Given the description of an element on the screen output the (x, y) to click on. 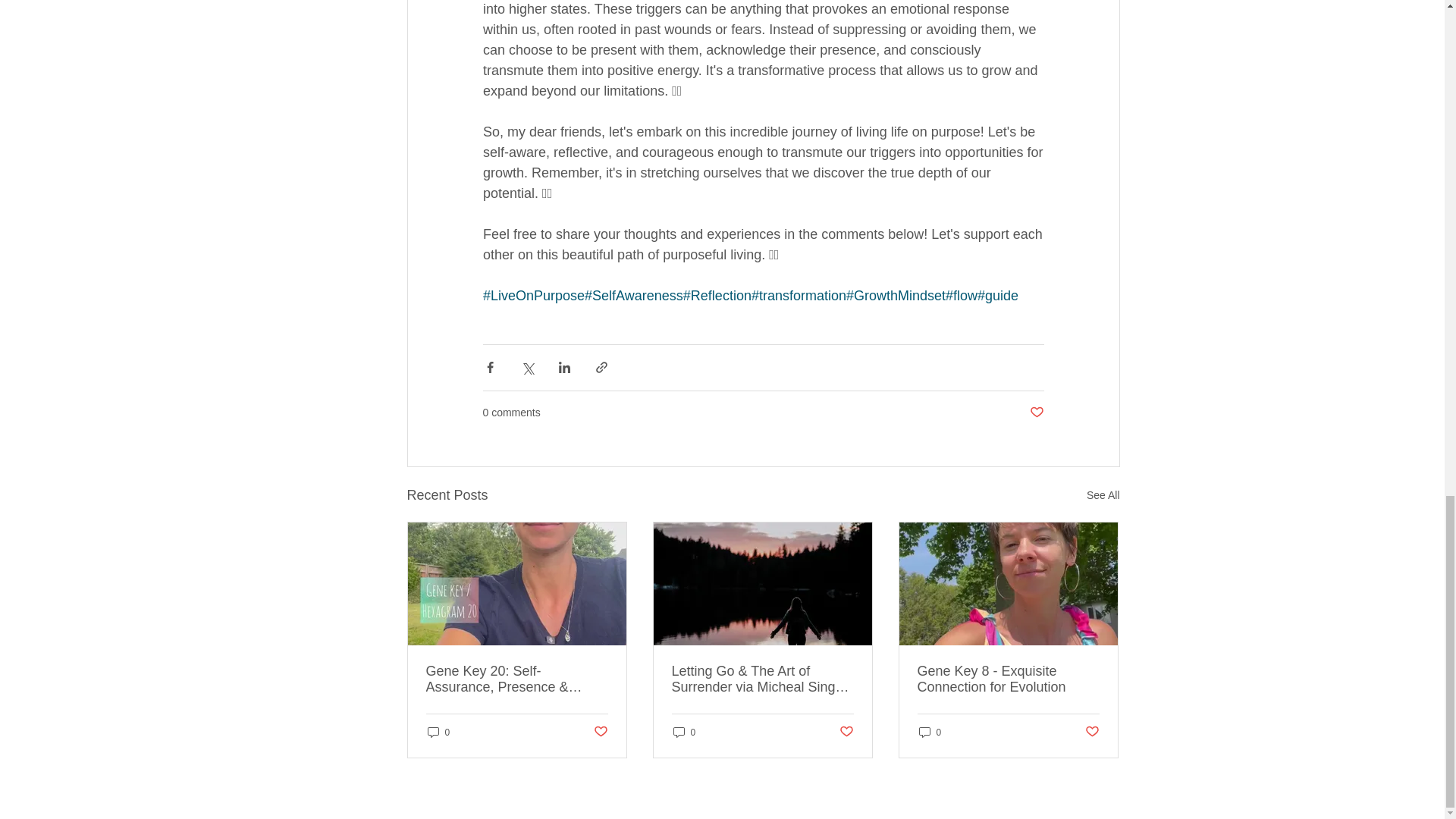
See All (1102, 495)
Post not marked as liked (845, 731)
0 (930, 731)
0 (438, 731)
0 (684, 731)
Post not marked as liked (1036, 412)
Post not marked as liked (1091, 731)
Gene Key 8 - Exquisite Connection for Evolution (1008, 679)
Post not marked as liked (599, 731)
